Given the description of an element on the screen output the (x, y) to click on. 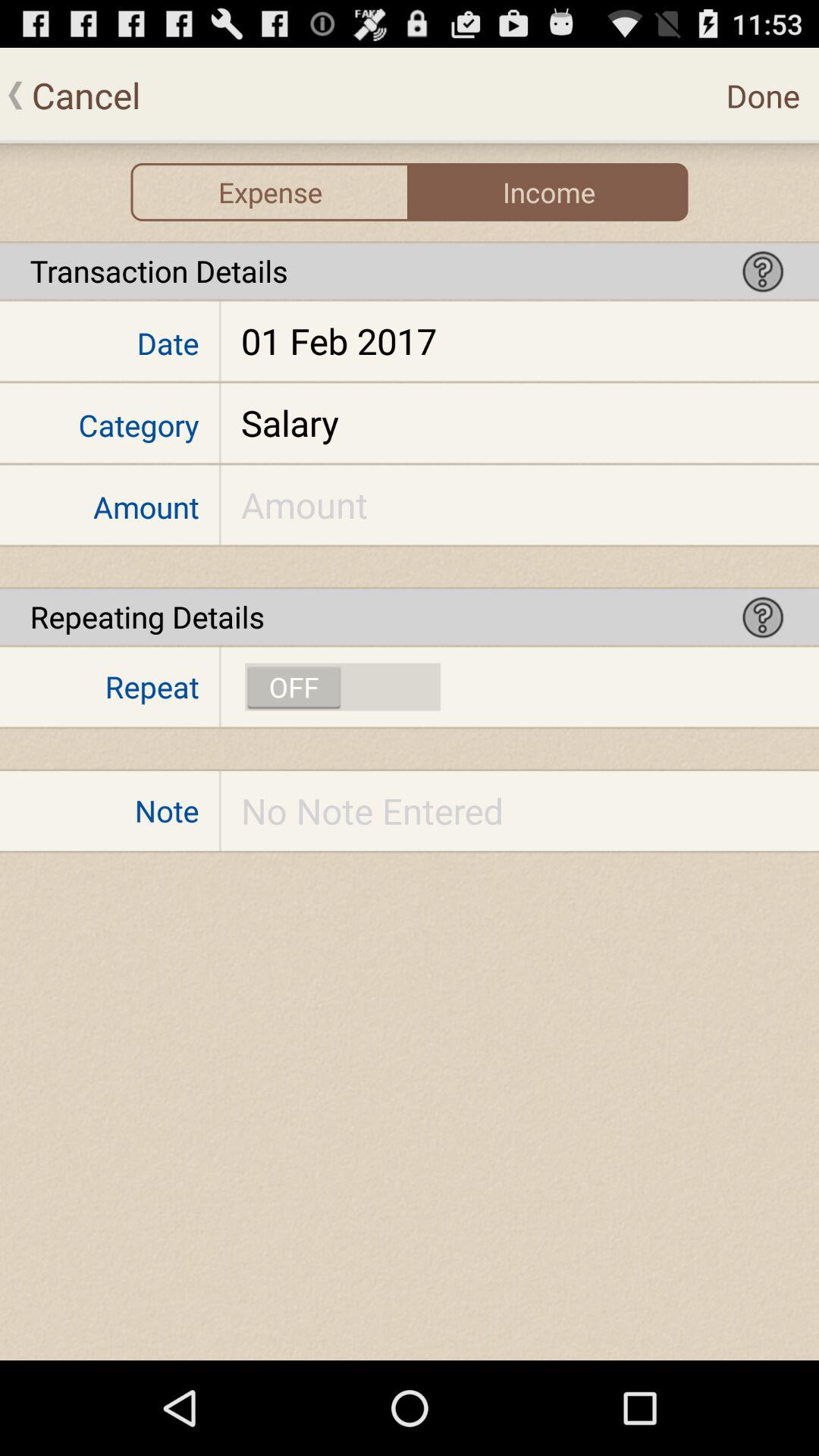
toggles repeat on/off (342, 686)
